Given the description of an element on the screen output the (x, y) to click on. 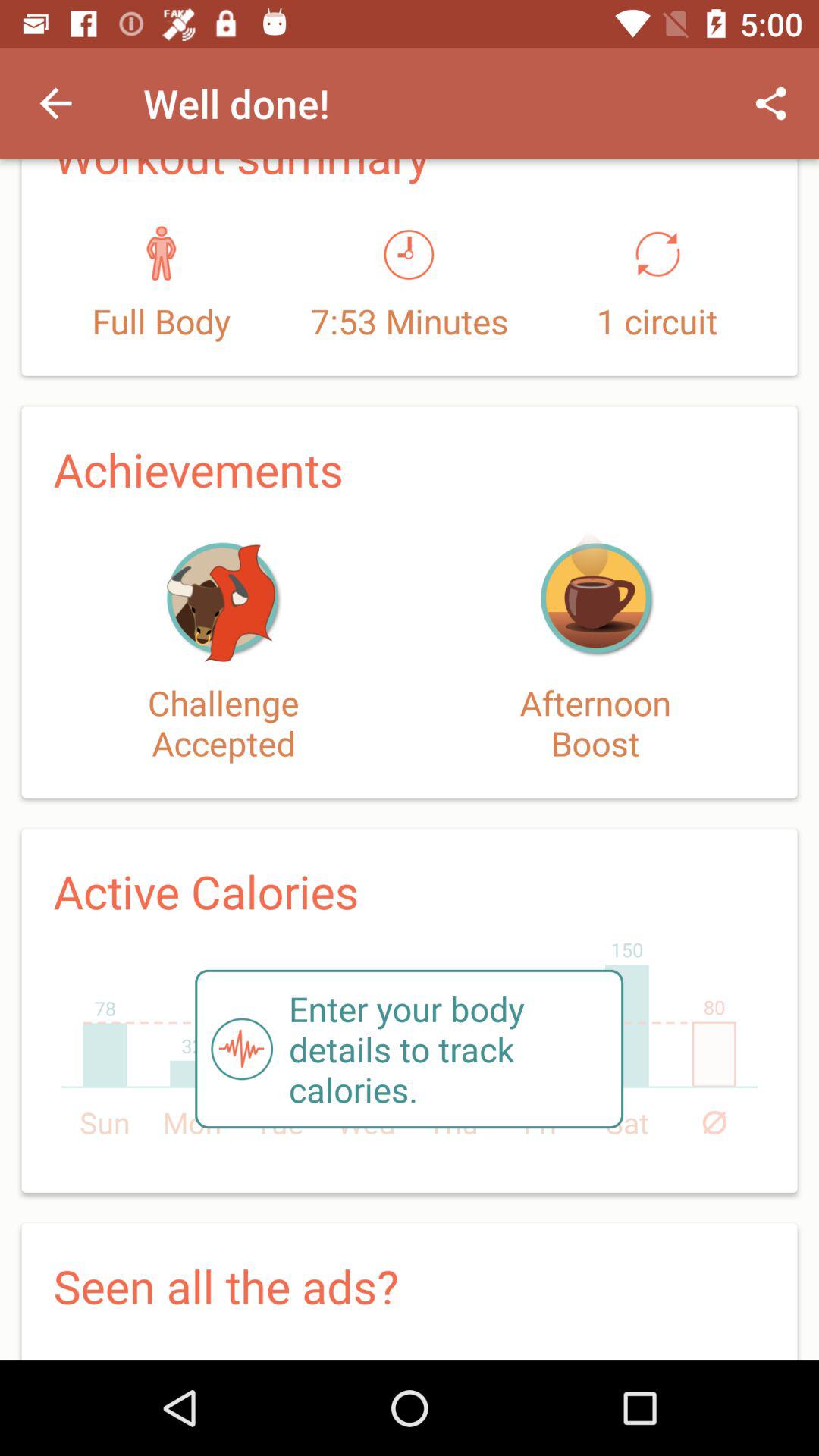
open the item above 1 circuit (771, 103)
